Given the description of an element on the screen output the (x, y) to click on. 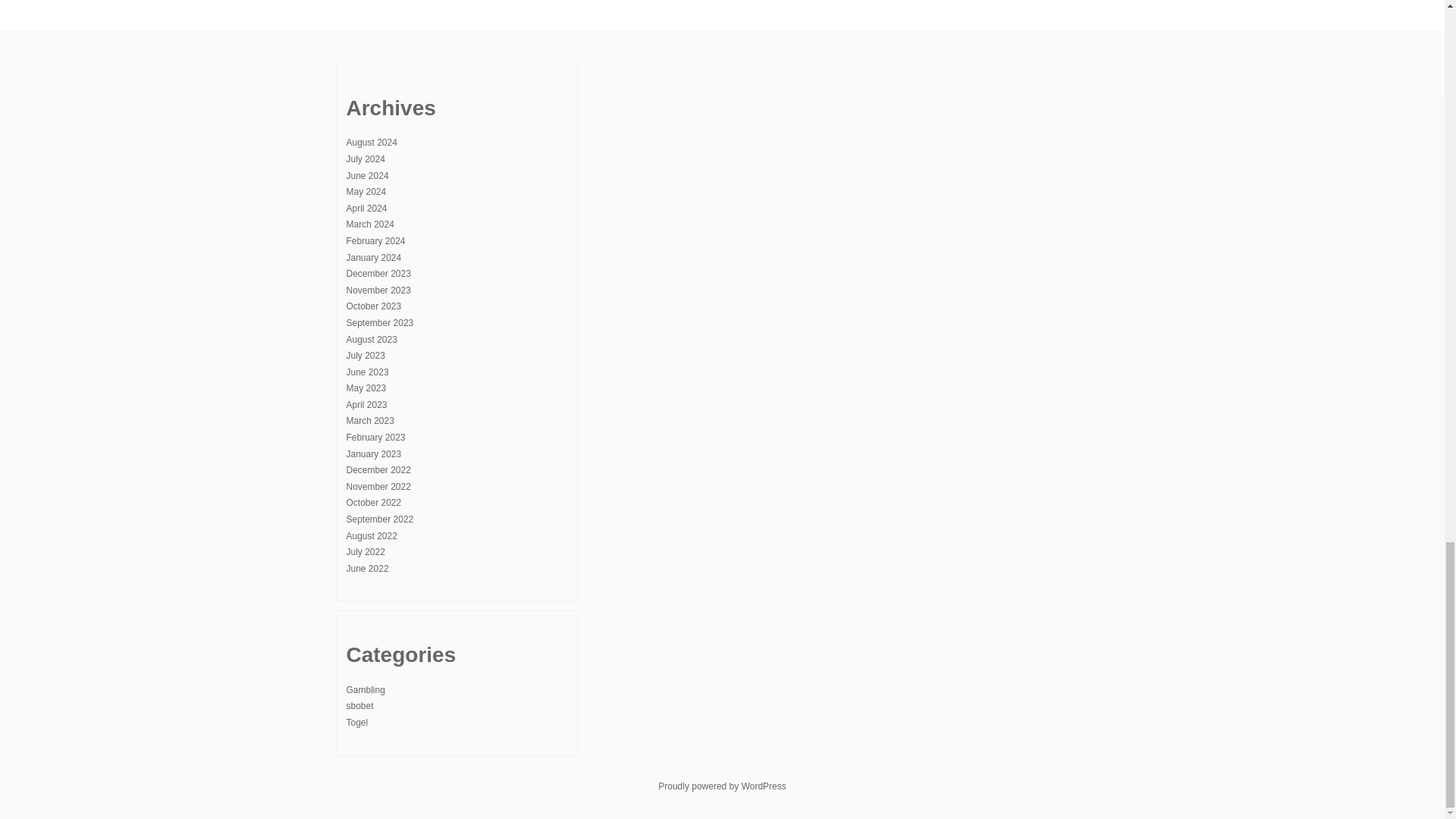
March 2023 (369, 420)
July 2024 (365, 158)
February 2024 (375, 240)
January 2023 (373, 453)
November 2022 (378, 486)
December 2022 (378, 470)
March 2024 (369, 224)
June 2024 (367, 175)
November 2023 (378, 290)
July 2023 (365, 355)
September 2023 (379, 322)
June 2023 (367, 371)
May 2024 (365, 191)
October 2023 (373, 306)
January 2024 (373, 257)
